Given the description of an element on the screen output the (x, y) to click on. 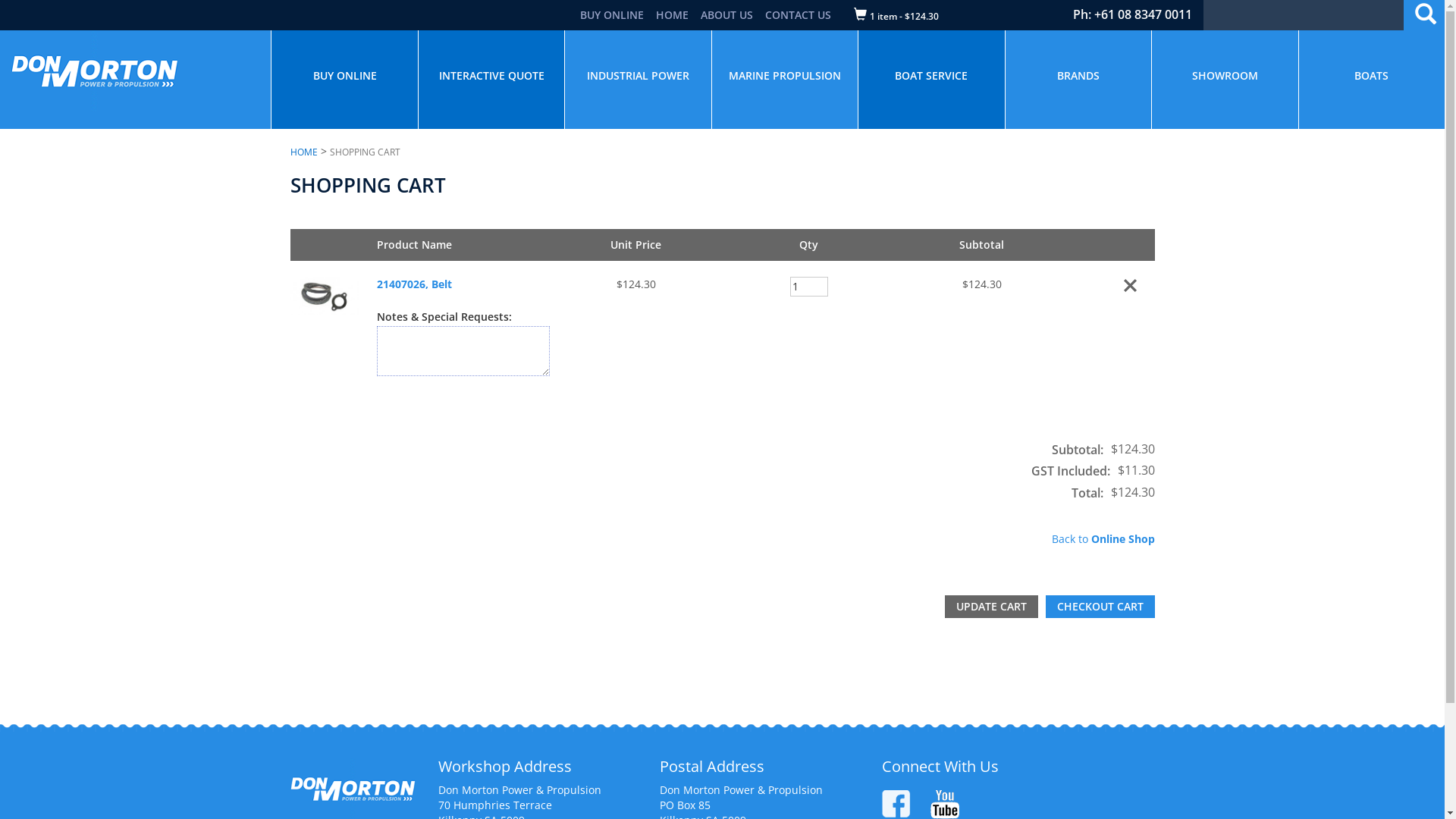
ABOUT US Element type: text (726, 14)
BRANDS Element type: text (1077, 79)
HOME Element type: text (302, 151)
Remove Element type: text (1127, 284)
1 item - $124.30 Element type: text (903, 15)
CONTACT US Element type: text (798, 14)
CHECKOUT CART Element type: text (1099, 606)
UPDATE CART Element type: text (991, 606)
SHOWROOM Element type: text (1224, 79)
BUY ONLINE Element type: text (344, 79)
BOATS Element type: text (1371, 79)
Back to Online Shop Element type: text (1102, 538)
MARINE PROPULSION Element type: text (784, 79)
INDUSTRIAL POWER Element type: text (637, 79)
HOME Element type: text (671, 14)
BOAT SERVICE Element type: text (931, 79)
INTERACTIVE QUOTE Element type: text (491, 79)
21407026, Belt Element type: text (413, 283)
BUY ONLINE Element type: text (611, 14)
